Given the description of an element on the screen output the (x, y) to click on. 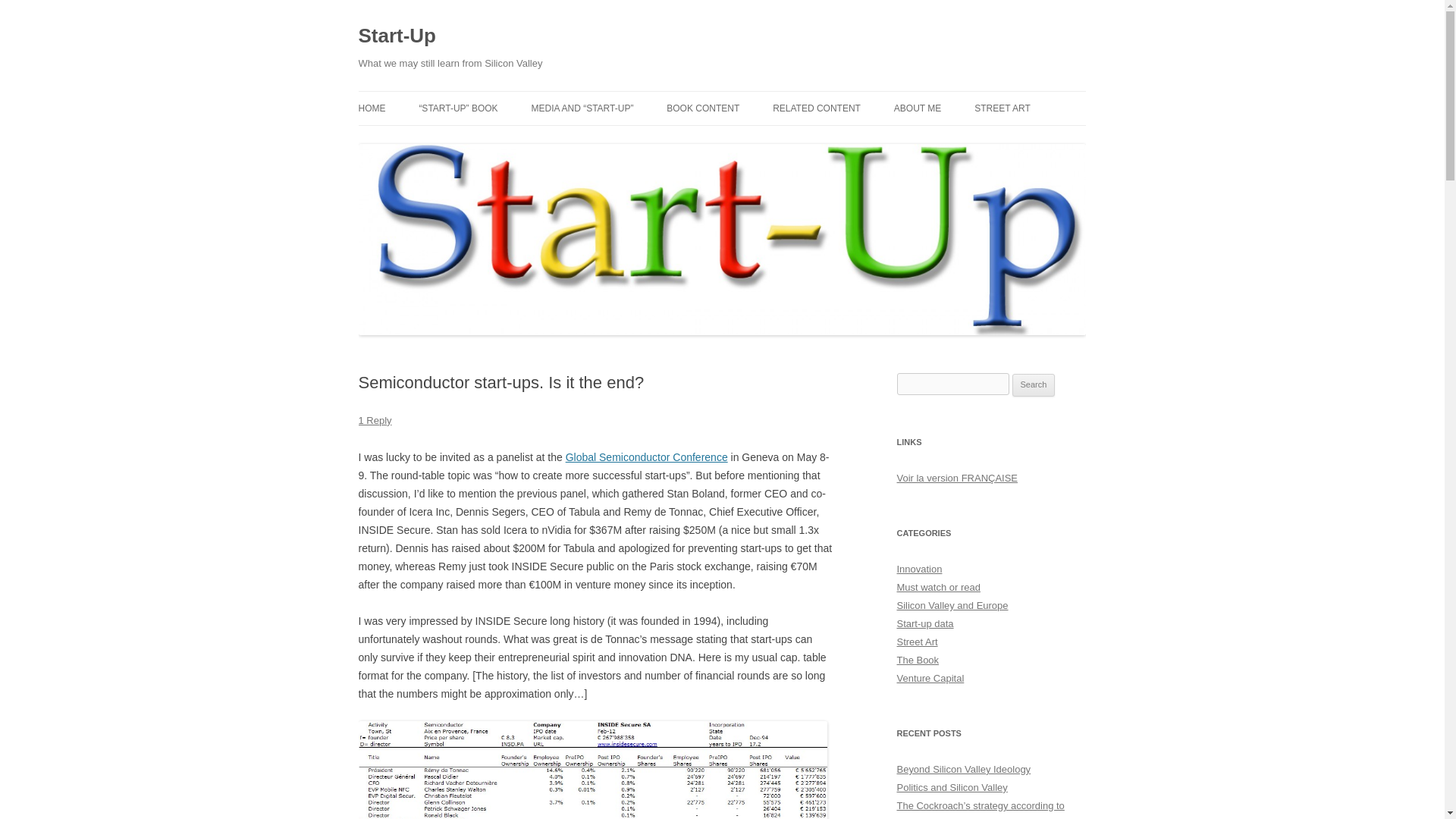
STREET ART (1002, 108)
Start-Up (396, 36)
1 Reply (374, 419)
Global Semiconductor Conference (647, 457)
RELATED CONTENT (816, 108)
Search (1033, 384)
ABOUT ME (916, 108)
BOOK CONTENT (702, 108)
THE RECENT INVASIONS (1049, 140)
